Given the description of an element on the screen output the (x, y) to click on. 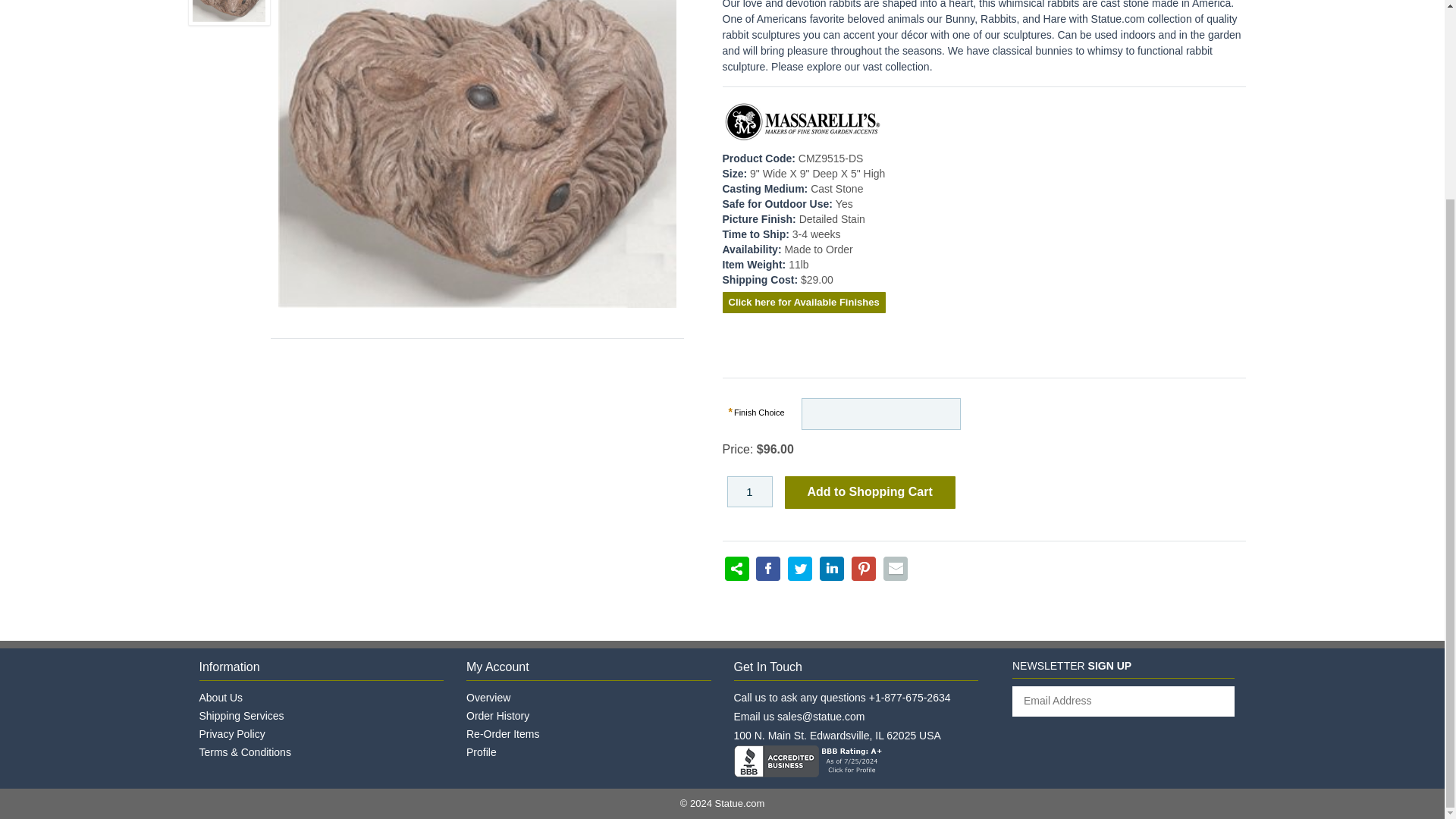
Shipping Services (240, 715)
1 (748, 490)
Click here for Available Finishes (803, 302)
Privacy Policy (231, 734)
Add to Shopping Cart (869, 491)
Finish Choice (758, 411)
About Us (220, 697)
